Given the description of an element on the screen output the (x, y) to click on. 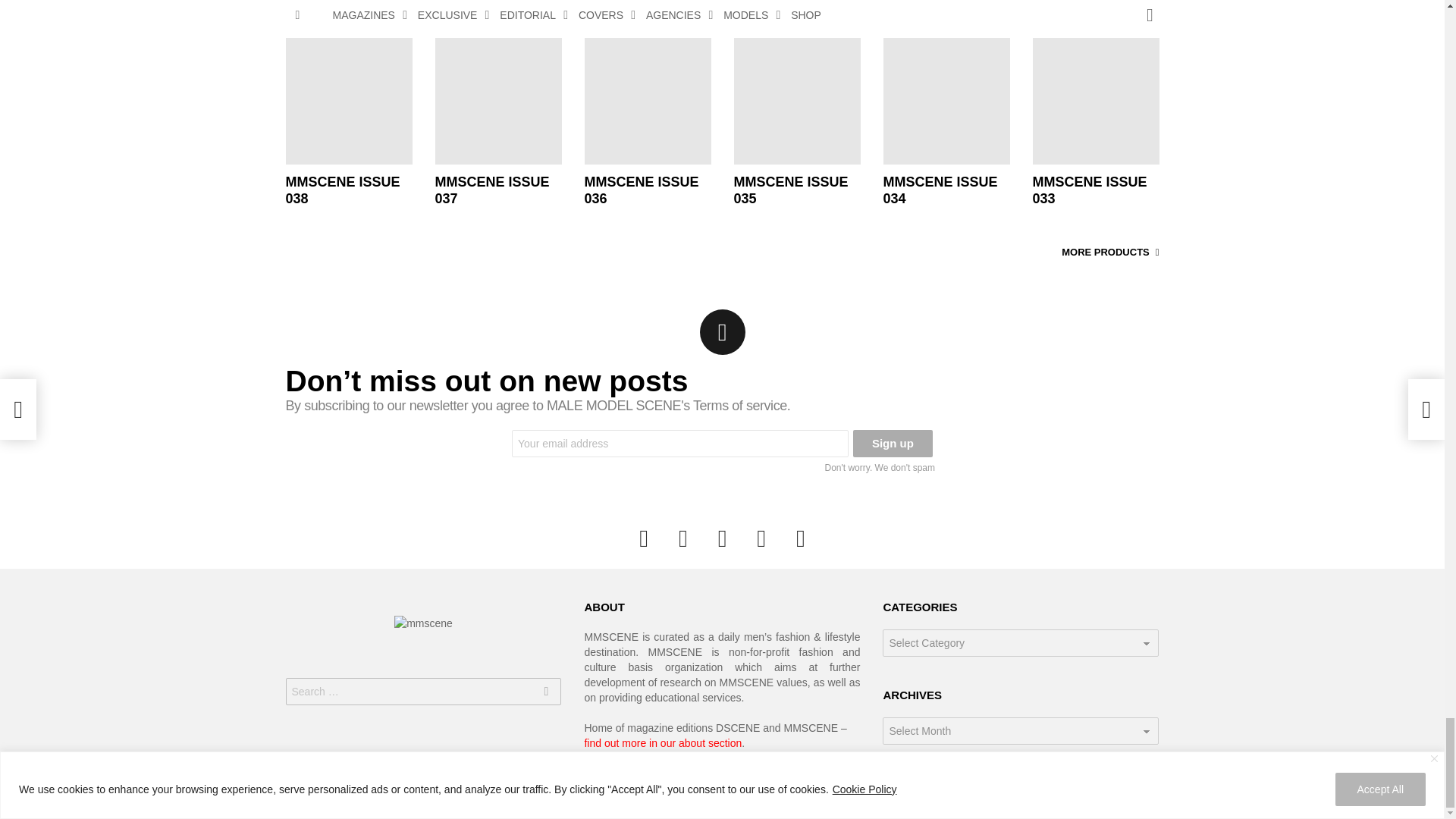
Sign up (893, 443)
